Given the description of an element on the screen output the (x, y) to click on. 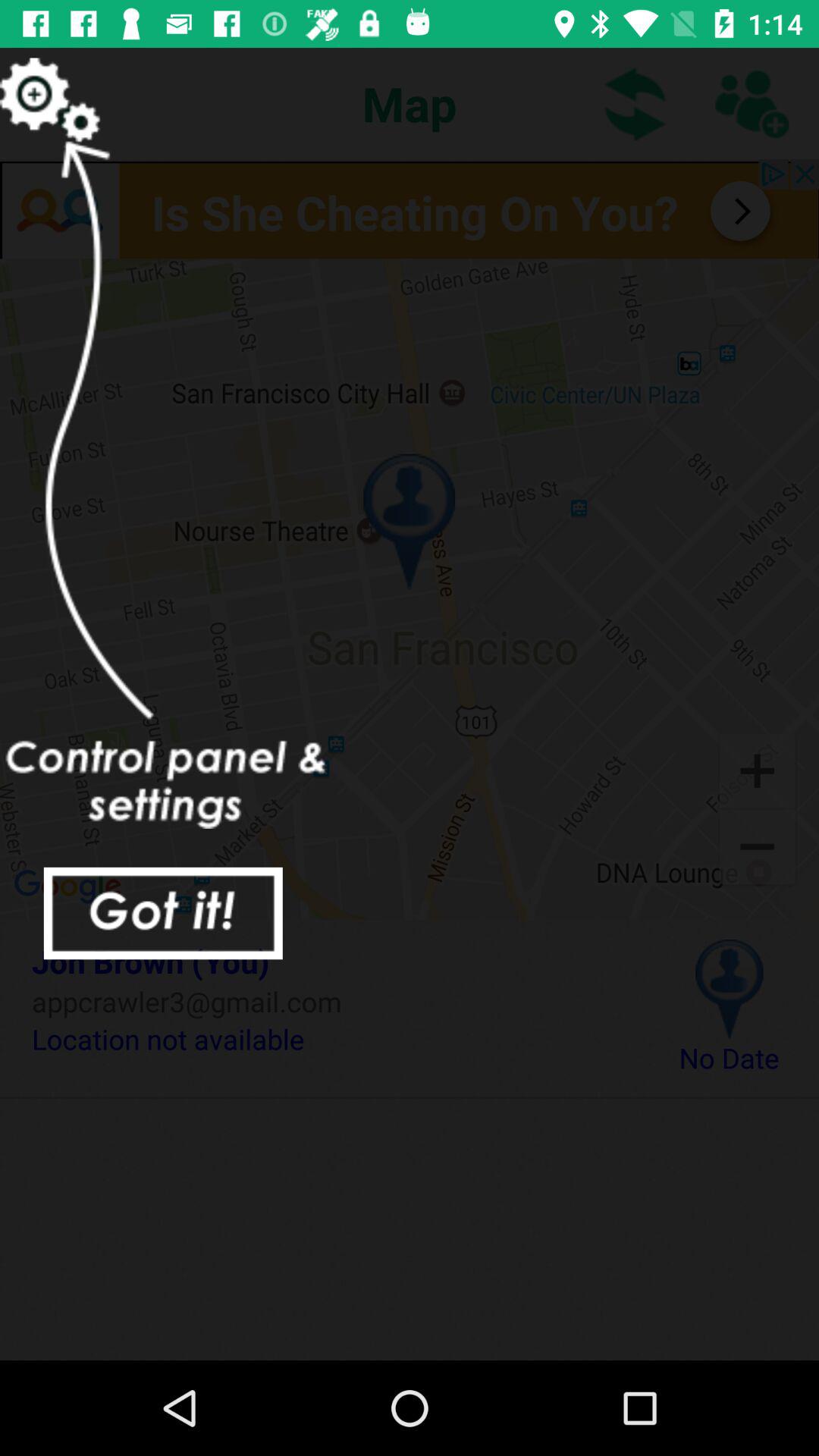
click on the button which is next to the map (635, 103)
